Given the description of an element on the screen output the (x, y) to click on. 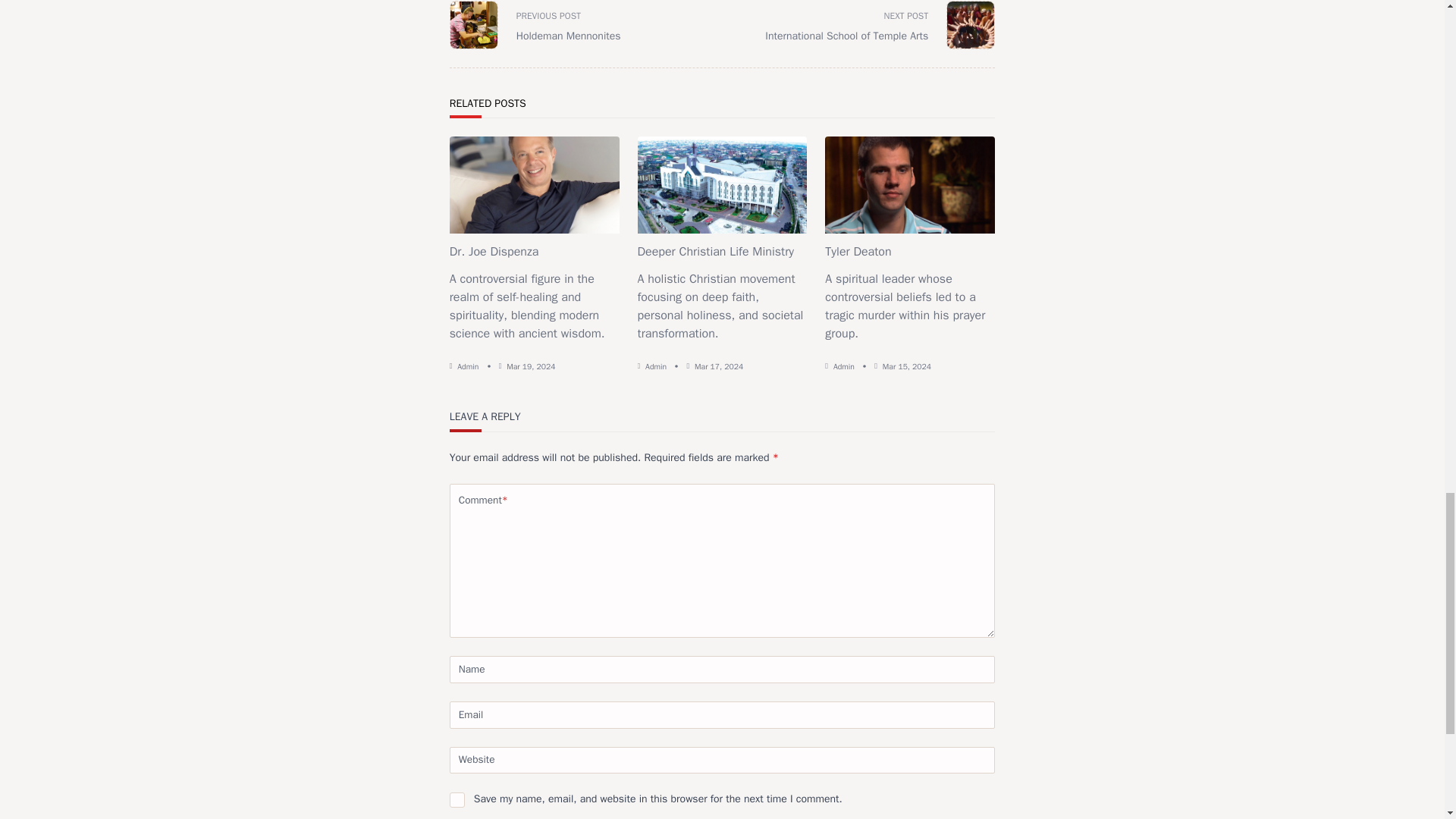
yes (456, 799)
